Given the description of an element on the screen output the (x, y) to click on. 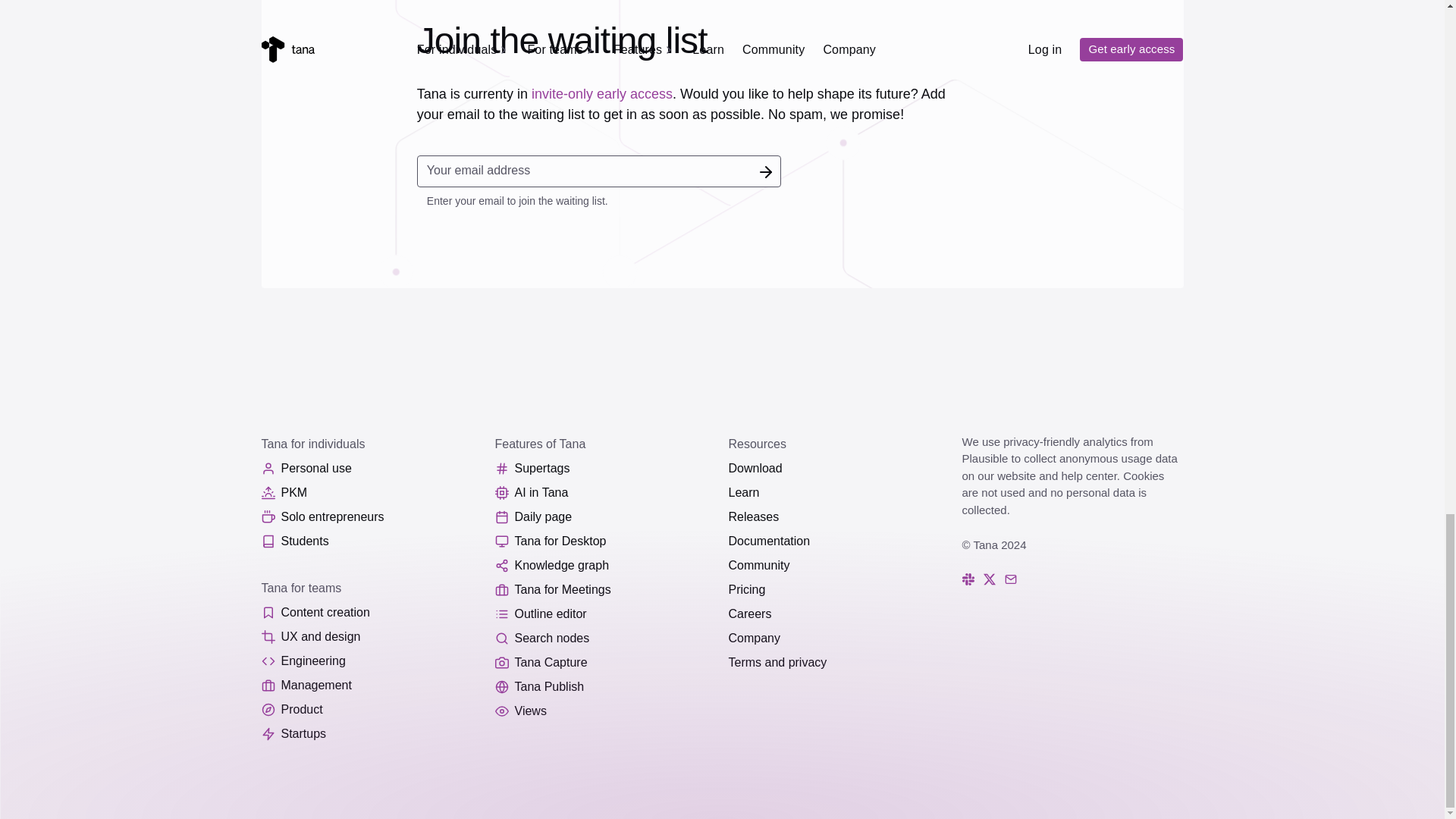
Daily page (605, 517)
Knowledge graph (605, 565)
Supertags (605, 468)
PKM (370, 492)
UX and design (370, 636)
Content creation (370, 612)
AI in Tana (605, 492)
Tana for Meetings (605, 589)
Management (370, 685)
Solo entrepreneurs (370, 517)
Tana for Desktop (605, 541)
Startups (370, 733)
Engineering (370, 661)
Students (370, 541)
Outline editor (605, 613)
